Given the description of an element on the screen output the (x, y) to click on. 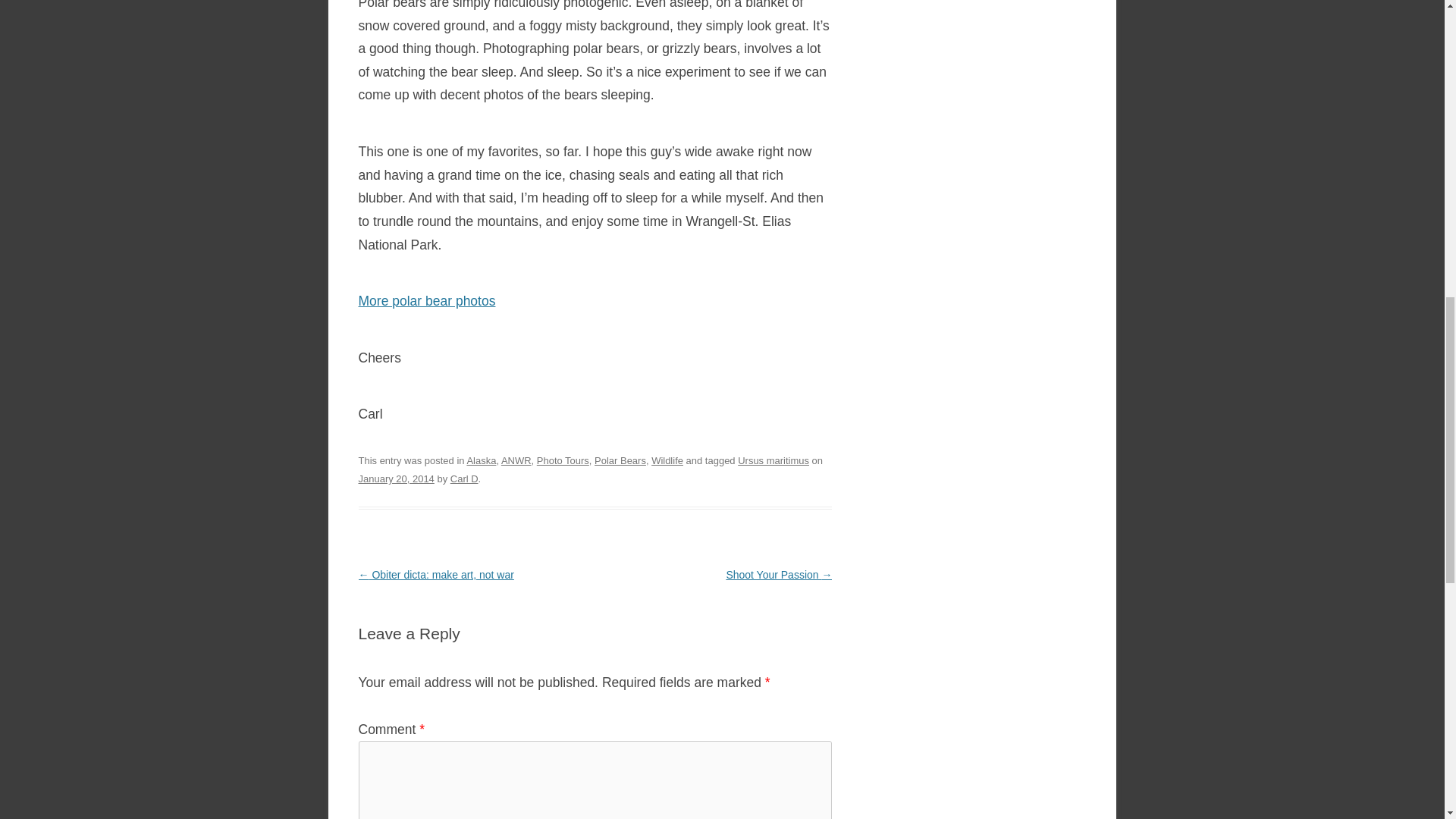
12:44 am (395, 478)
Polar bear photos. (426, 300)
View all posts by Carl D (464, 478)
More polar bear photos (426, 300)
ANWR (515, 460)
Photo Tours (563, 460)
Ursus maritimus (773, 460)
Carl D (464, 478)
Alaska (480, 460)
January 20, 2014 (395, 478)
Polar Bears (620, 460)
Wildlife (666, 460)
